Given the description of an element on the screen output the (x, y) to click on. 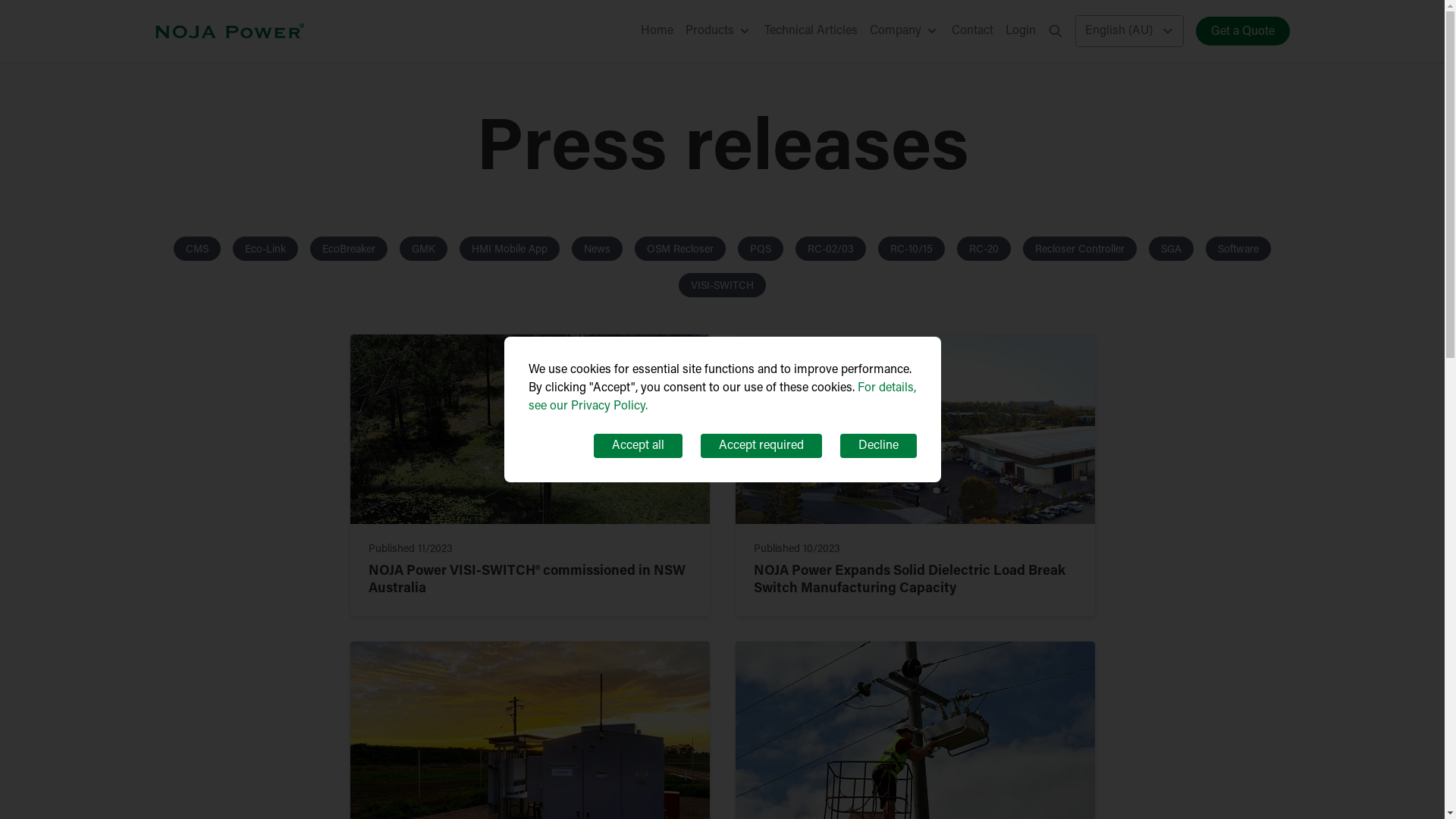
Login Element type: text (1020, 30)
Contact Element type: text (971, 31)
Search site Element type: hover (1055, 30)
VISI-SWITCH Element type: text (721, 285)
Accept required Element type: text (761, 445)
Technical Articles Element type: text (810, 31)
GMK Element type: text (423, 248)
RC-02/03 Element type: text (830, 248)
CMS Element type: text (196, 248)
Recloser Controller Element type: text (1079, 248)
Eco-Link Element type: text (265, 248)
SGA Element type: text (1170, 248)
For details, see our Privacy Policy. Element type: text (721, 397)
Software Element type: text (1237, 248)
PQS Element type: text (760, 248)
Products Element type: text (718, 30)
OSM Recloser Element type: text (679, 248)
Get a Quote Element type: text (1242, 30)
Accept all Element type: text (637, 445)
Read full article Element type: hover (915, 429)
Company Element type: text (903, 30)
Decline Element type: text (878, 445)
RC-20 Element type: text (983, 248)
RC-10/15 Element type: text (911, 248)
Home Element type: text (656, 31)
Read full article Element type: hover (529, 429)
HMI Mobile App Element type: text (509, 248)
EcoBreaker Element type: text (348, 248)
News Element type: text (596, 248)
